Given the description of an element on the screen output the (x, y) to click on. 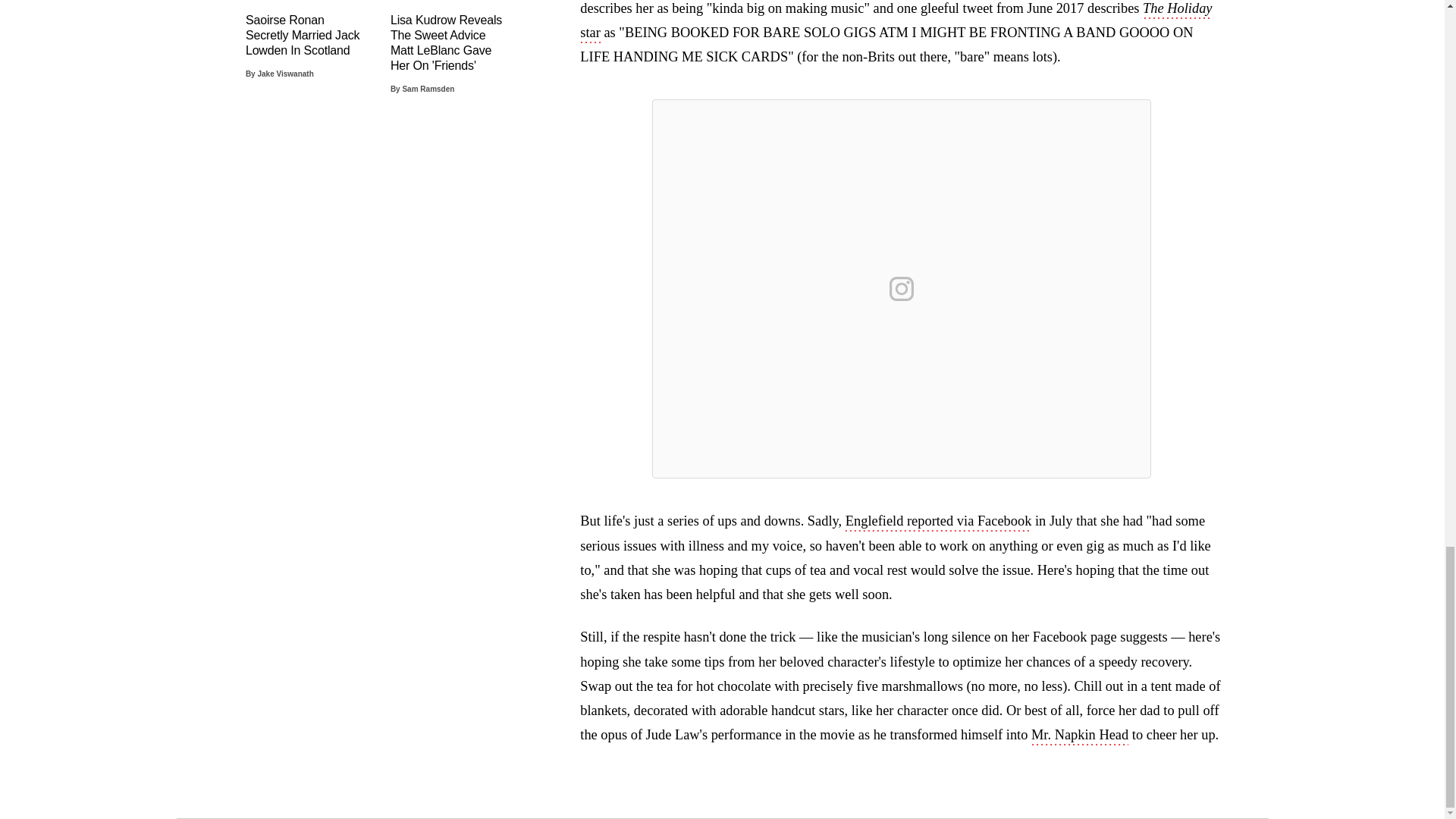
Englefield reported via Facebook (938, 522)
View on Instagram (901, 289)
The Holiday star (895, 21)
Mr. Napkin Head (1079, 736)
